Given the description of an element on the screen output the (x, y) to click on. 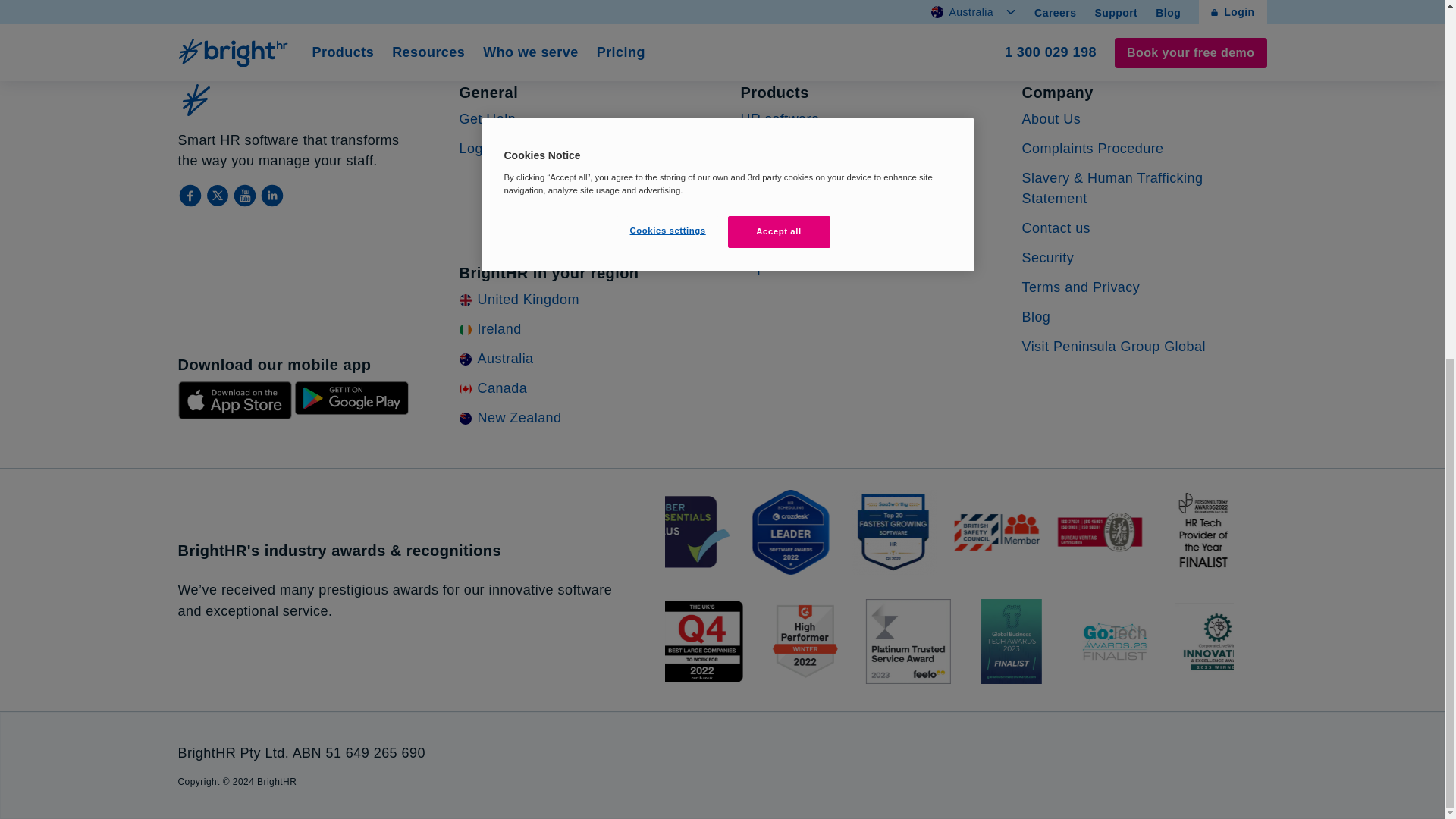
Login (477, 148)
Youtube (245, 195)
Employment relations advice (831, 148)
HR software (778, 118)
Clocking-in (774, 237)
Facebook (191, 195)
Get Help (488, 118)
Complaints Procedure (836, 5)
Twitter (1092, 148)
About Us (218, 195)
Expense tracker (1051, 118)
LinkedIn (791, 266)
Contact us (271, 195)
